Given the description of an element on the screen output the (x, y) to click on. 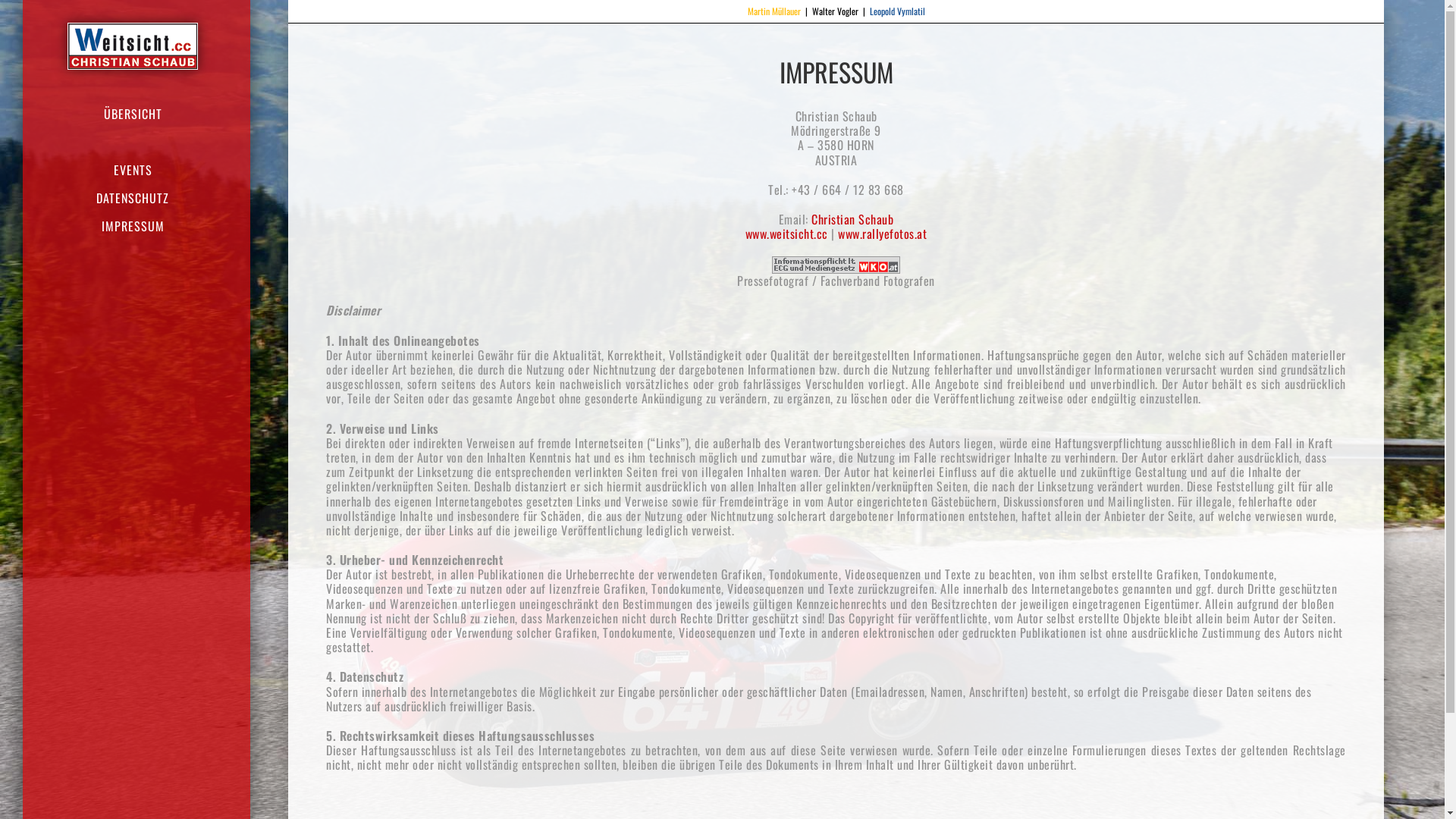
www.rallyefotos.at Element type: text (881, 233)
DATENSCHUTZ Element type: text (136, 197)
Leopold Vymlatil Element type: text (896, 10)
IMPRESSUM Element type: text (136, 225)
EVENTS Element type: text (136, 169)
www.weitsicht.cc Element type: text (786, 233)
Christian Schaub Element type: text (852, 219)
Walter Vogler Element type: text (834, 10)
